Given the description of an element on the screen output the (x, y) to click on. 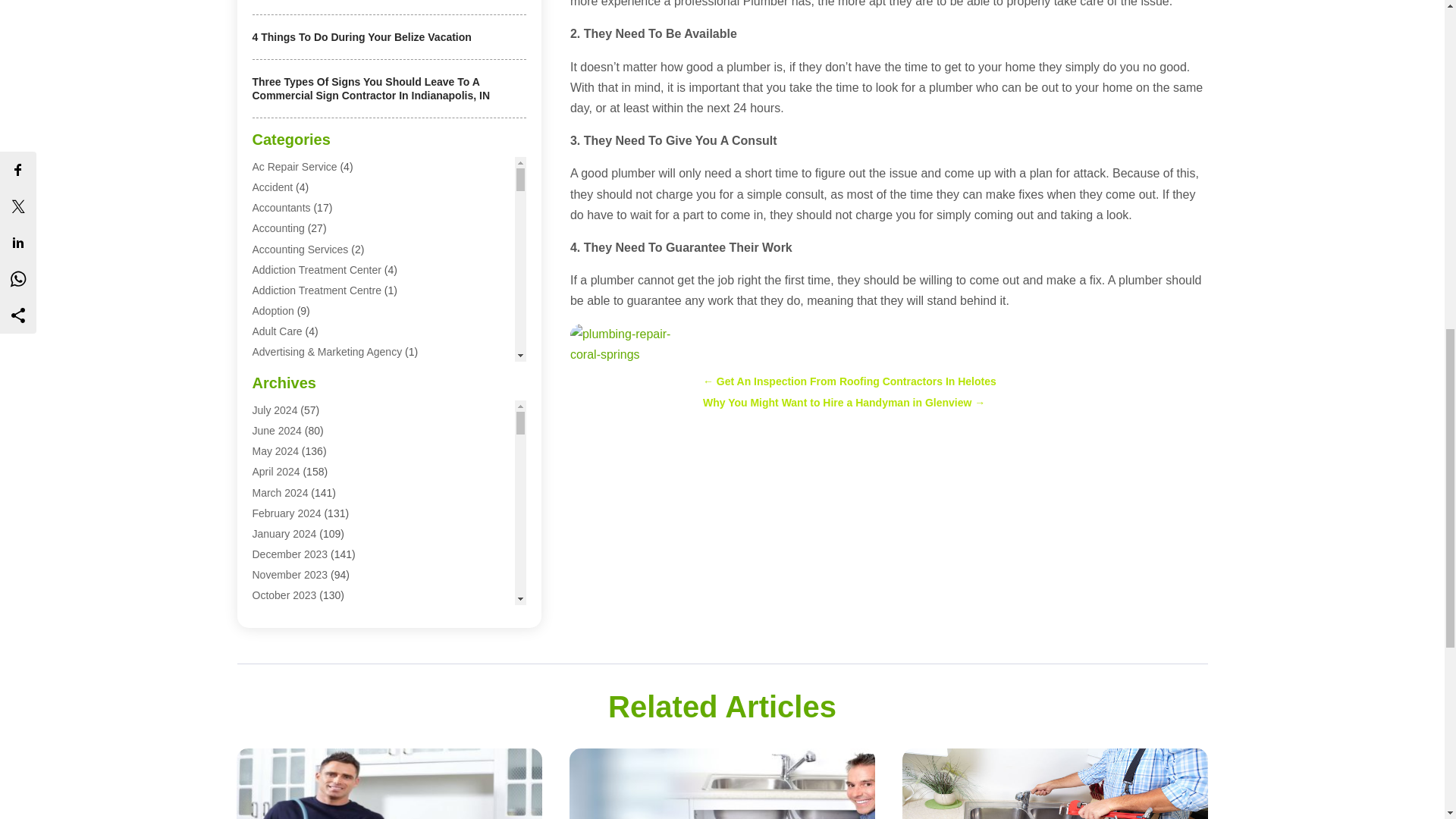
Accident (271, 186)
Addiction Treatment Centre (315, 290)
4 Things To Do During Your Belize Vacation (360, 37)
Accounting (277, 227)
Ac Repair Service (293, 166)
Air Conditioning (288, 496)
Adult Care (276, 331)
Agricultural Service (297, 393)
Agronomy (275, 454)
Addiction Treatment Center (315, 269)
Adoption (272, 310)
Air Conditioning Contractor (314, 517)
Advertising Agency (296, 372)
Agriculture Cooperative (306, 434)
